Given the description of an element on the screen output the (x, y) to click on. 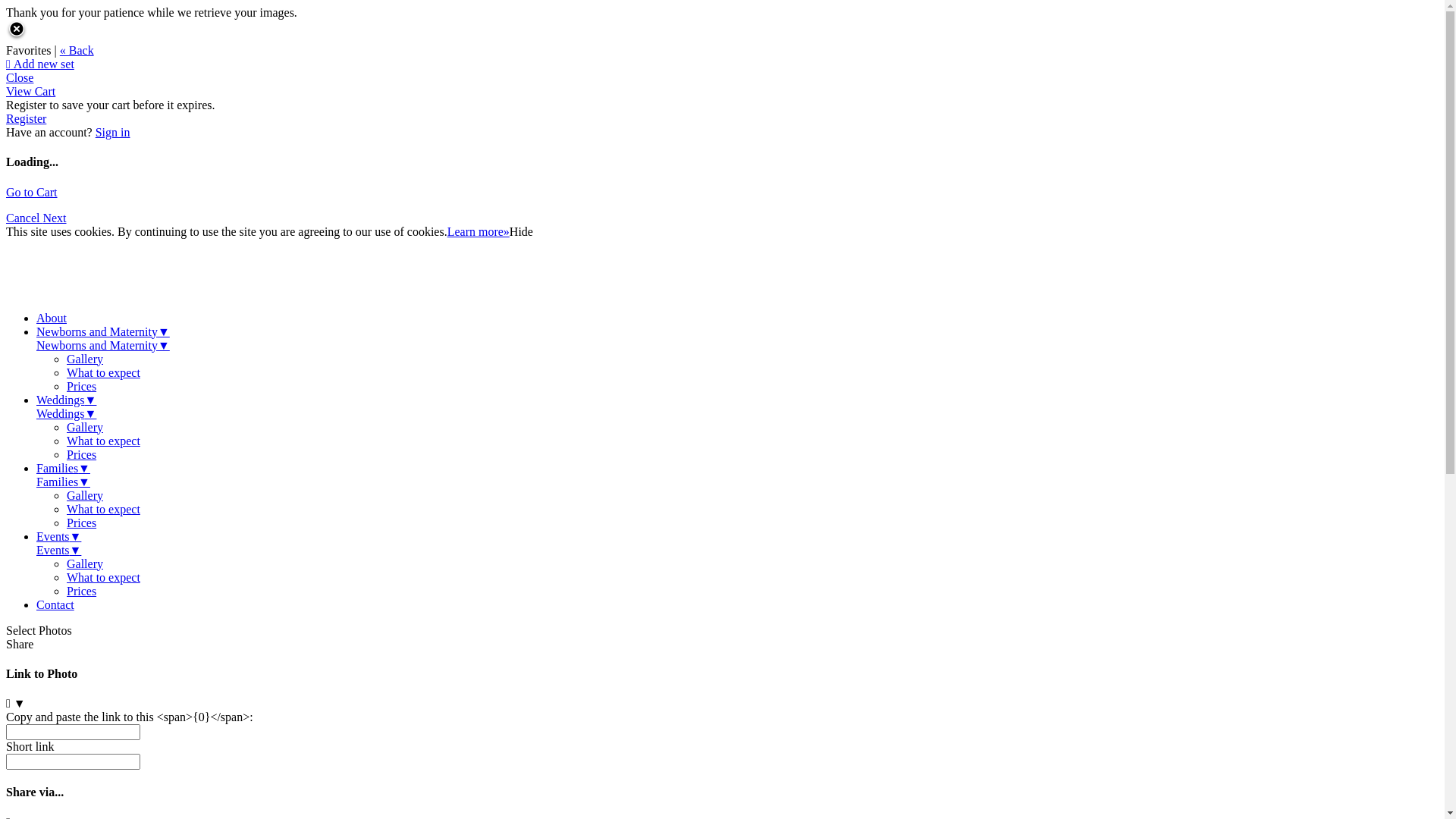
Go to Cart Element type: text (31, 191)
Gallery Element type: text (84, 495)
View Cart Element type: text (30, 90)
Prices Element type: text (81, 385)
Gallery Element type: text (84, 563)
Gallery Element type: text (84, 358)
Prices Element type: text (81, 522)
Sign in Element type: text (112, 131)
Contact Element type: text (55, 604)
What to expect Element type: text (103, 372)
Cancel Element type: text (24, 217)
Prices Element type: text (81, 590)
About Element type: text (51, 317)
What to expect Element type: text (103, 577)
Close Element type: text (19, 77)
What to expect Element type: text (103, 508)
Hide Element type: text (521, 231)
Gallery Element type: text (84, 426)
Prices Element type: text (81, 454)
Next Element type: text (53, 217)
What to expect Element type: text (103, 440)
Register Element type: text (26, 118)
